Given the description of an element on the screen output the (x, y) to click on. 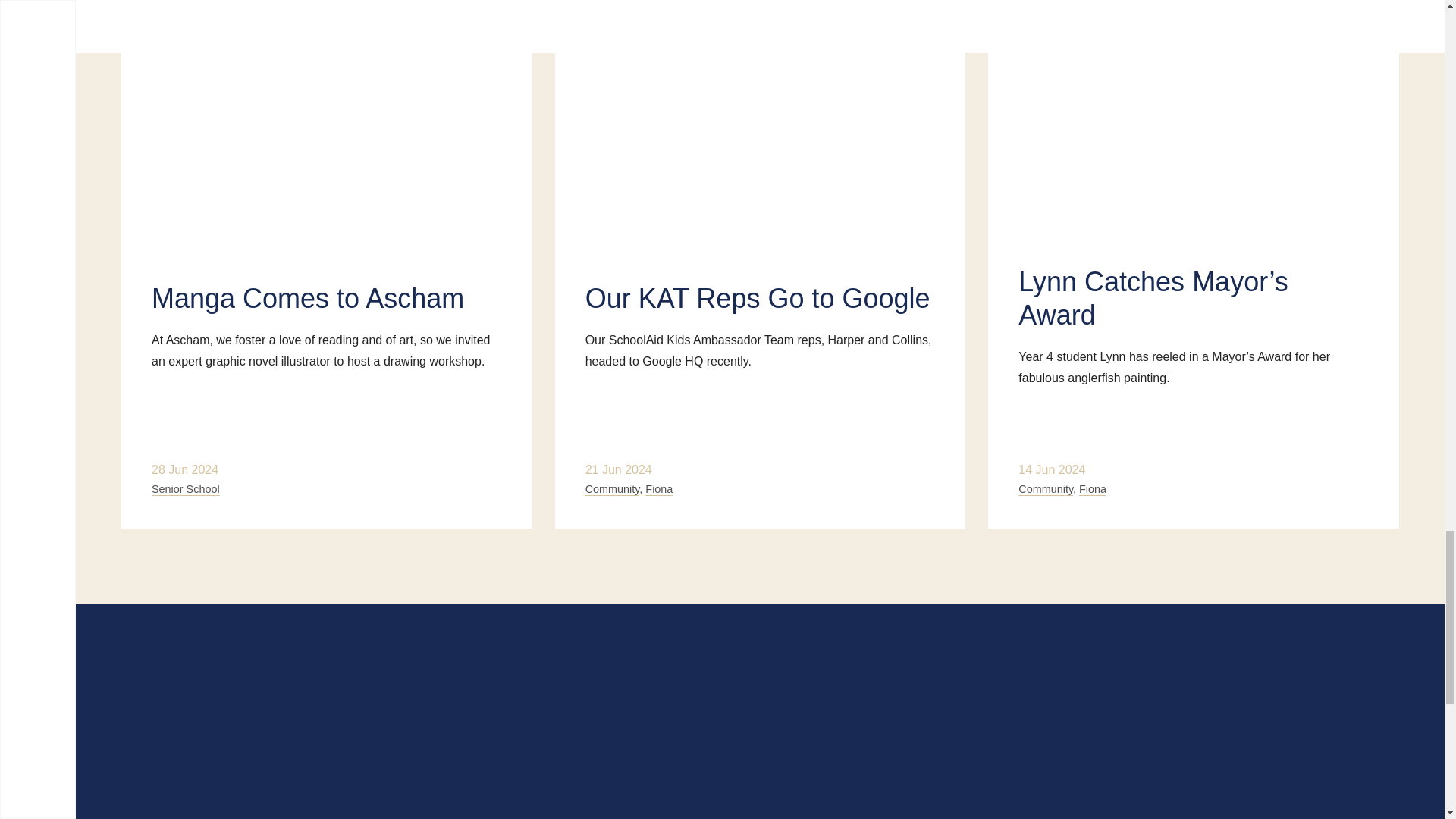
Fiona (658, 489)
Community (612, 489)
Senior School (185, 489)
Fiona (1092, 489)
Community (1045, 489)
